Given the description of an element on the screen output the (x, y) to click on. 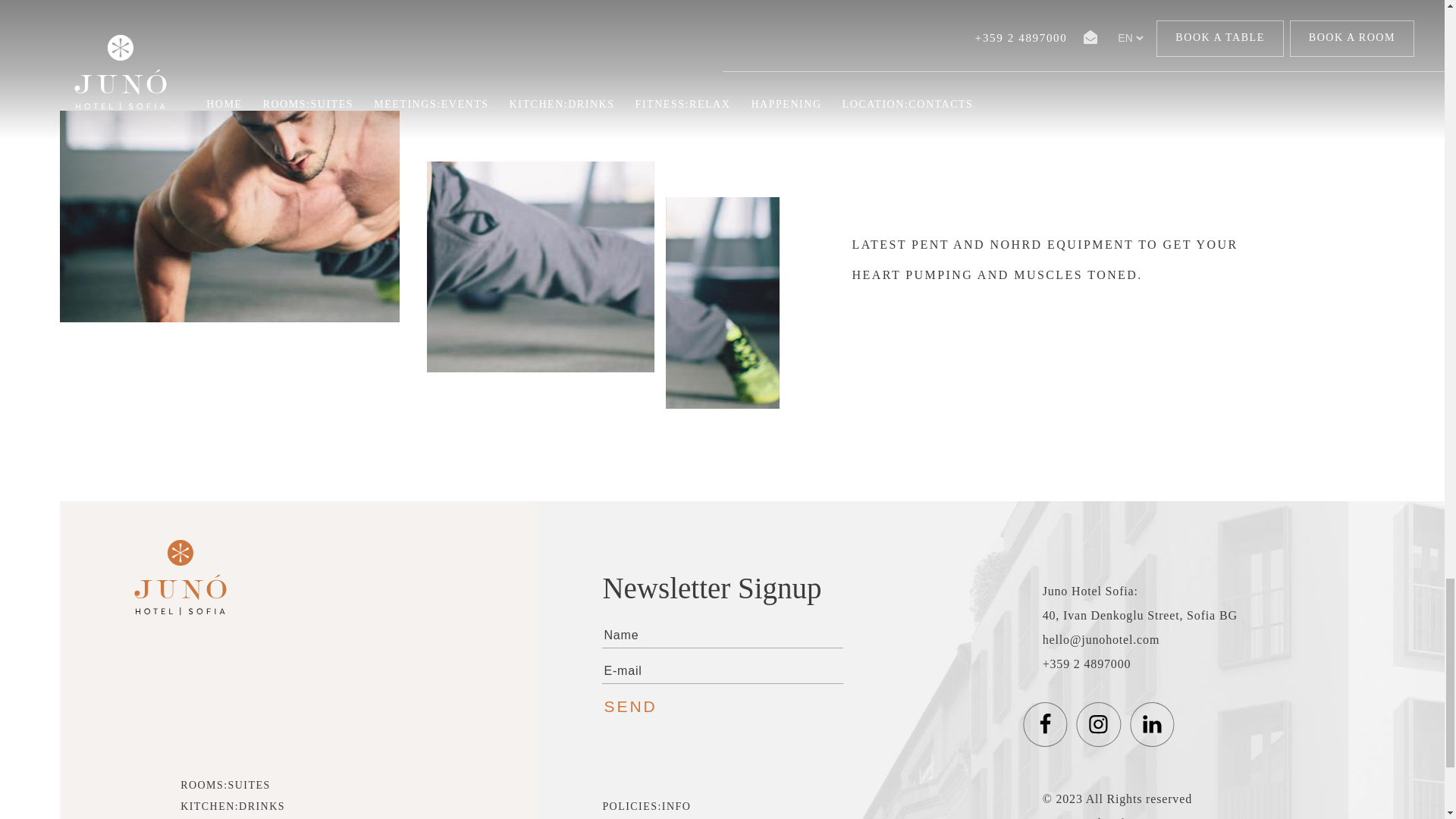
Send (637, 706)
FITNESS:RELAX (227, 818)
POLICIES:INFO (646, 806)
ROOMS:SUITES (225, 785)
KITCHEN:DRINKS (232, 806)
PAYMENTS:ONLINE (659, 818)
Send (637, 706)
